Given the description of an element on the screen output the (x, y) to click on. 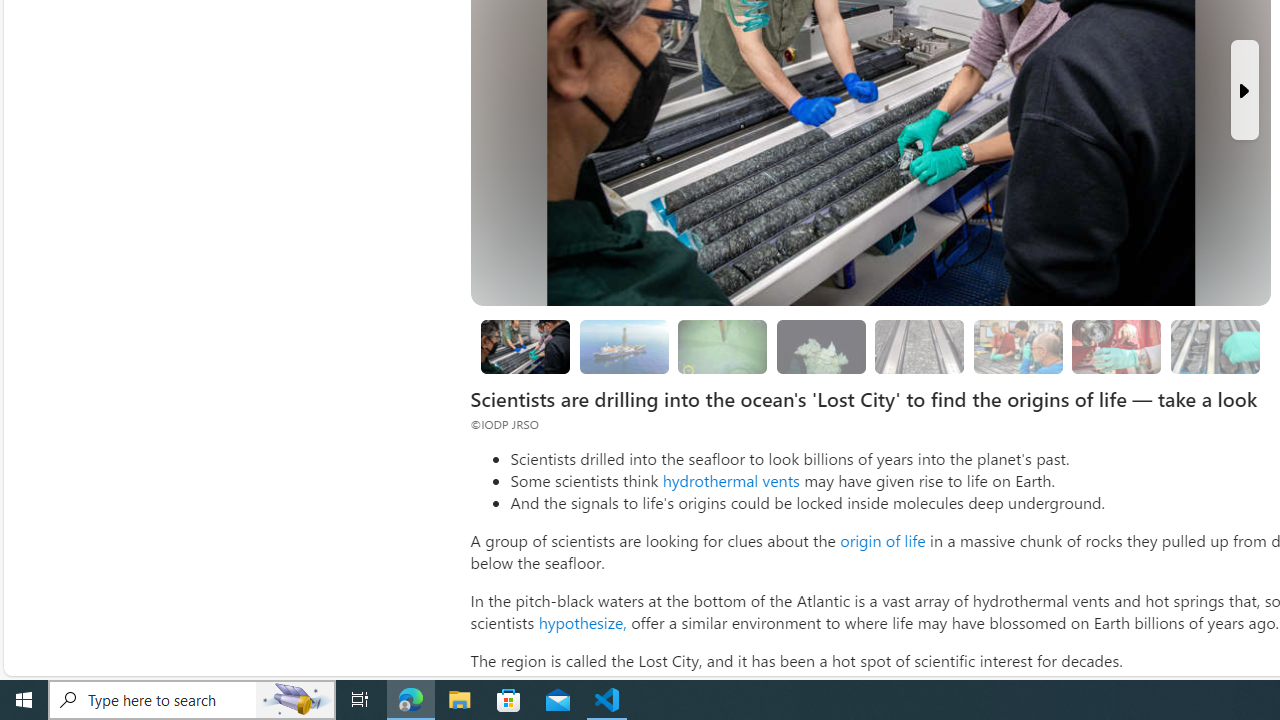
origin of life (882, 539)
Looking for evidence of oxygen-free life (1017, 346)
hypothesize, (582, 622)
Researchers are still studying the samples (1214, 346)
The Lost City could hold clues to the origin of life. (820, 346)
Class: progress (1214, 343)
hydrothermal vents (730, 480)
